Given the description of an element on the screen output the (x, y) to click on. 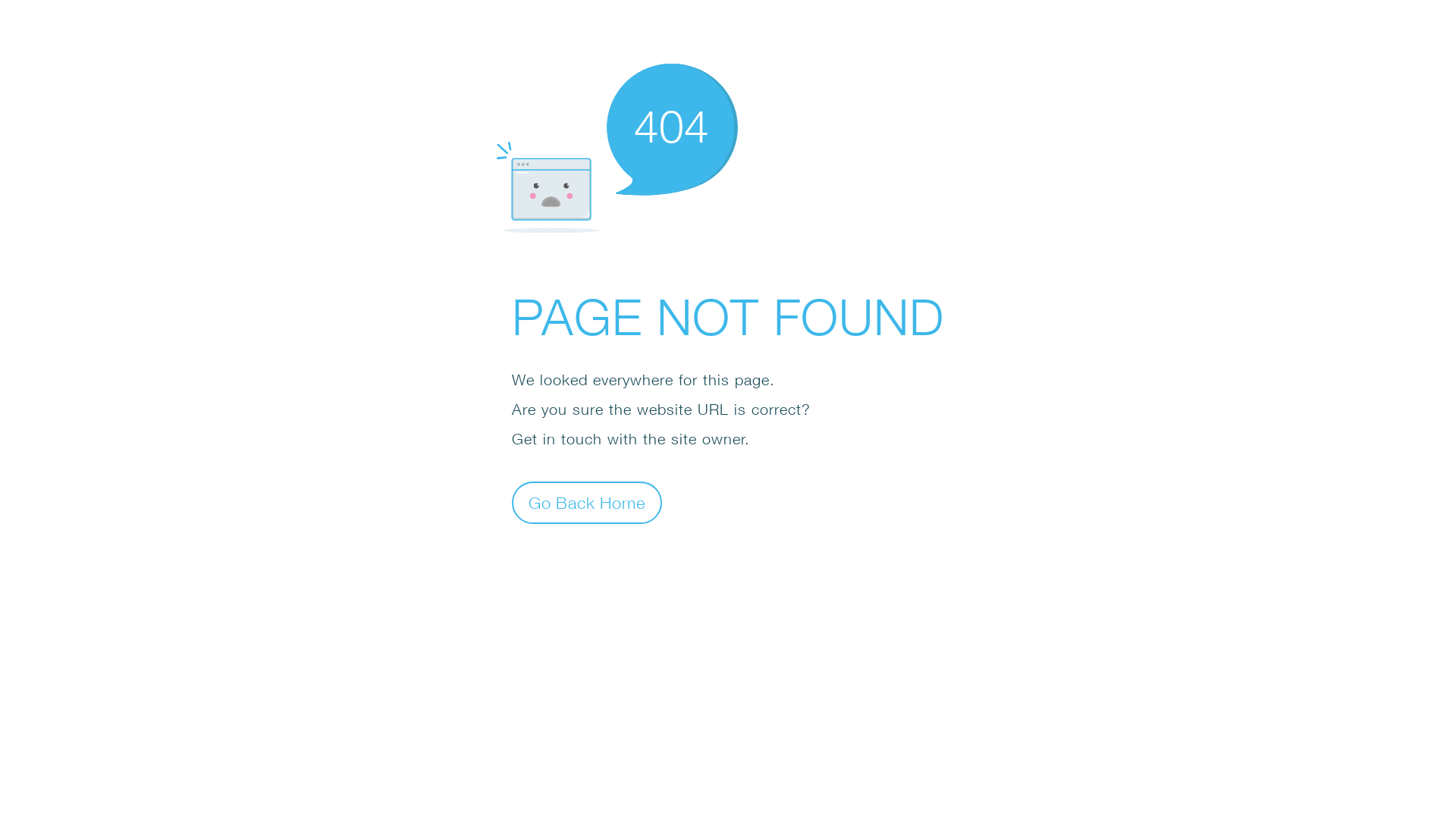
Go Back Home Element type: text (586, 502)
